Given the description of an element on the screen output the (x, y) to click on. 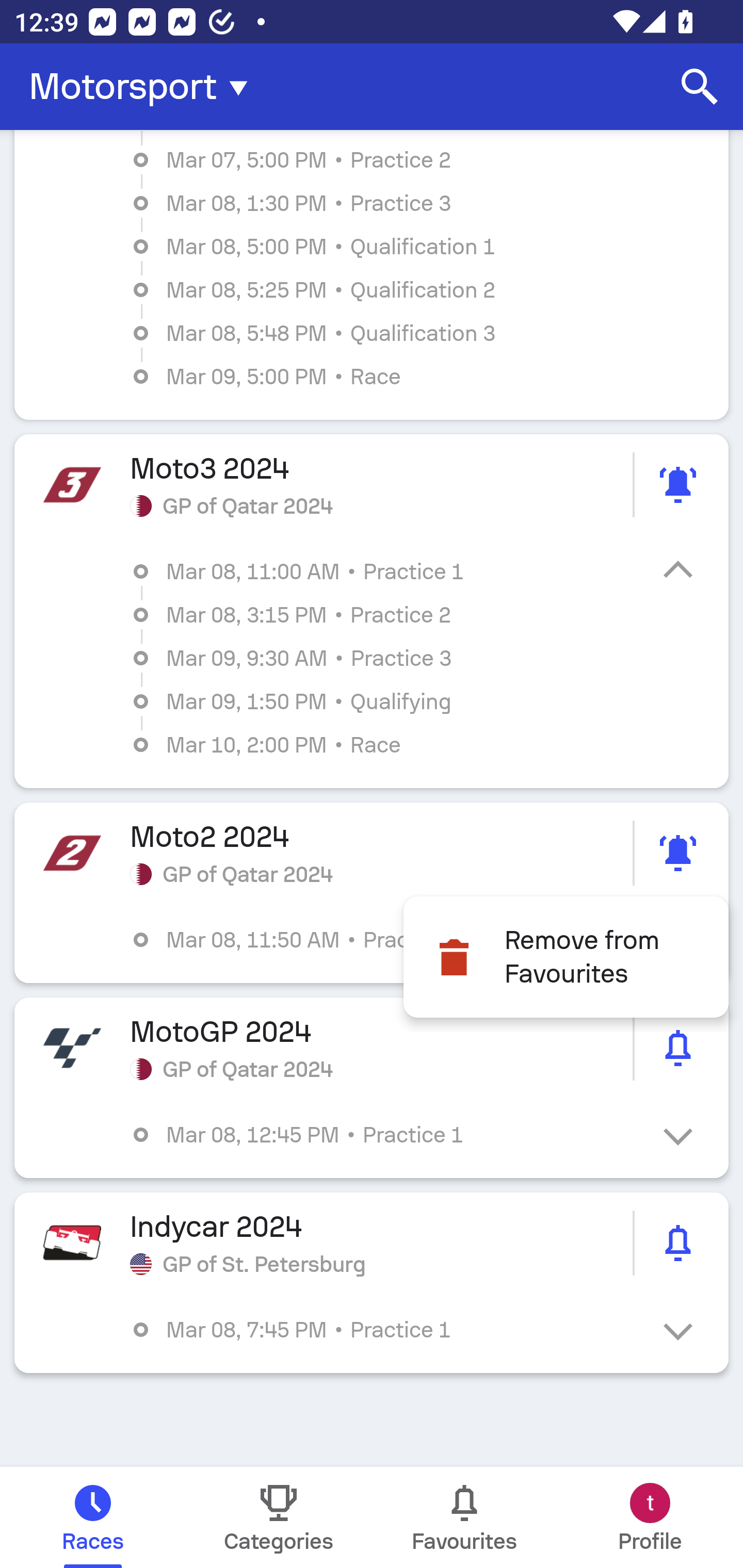
Remove from Favourites (565, 957)
